Given the description of an element on the screen output the (x, y) to click on. 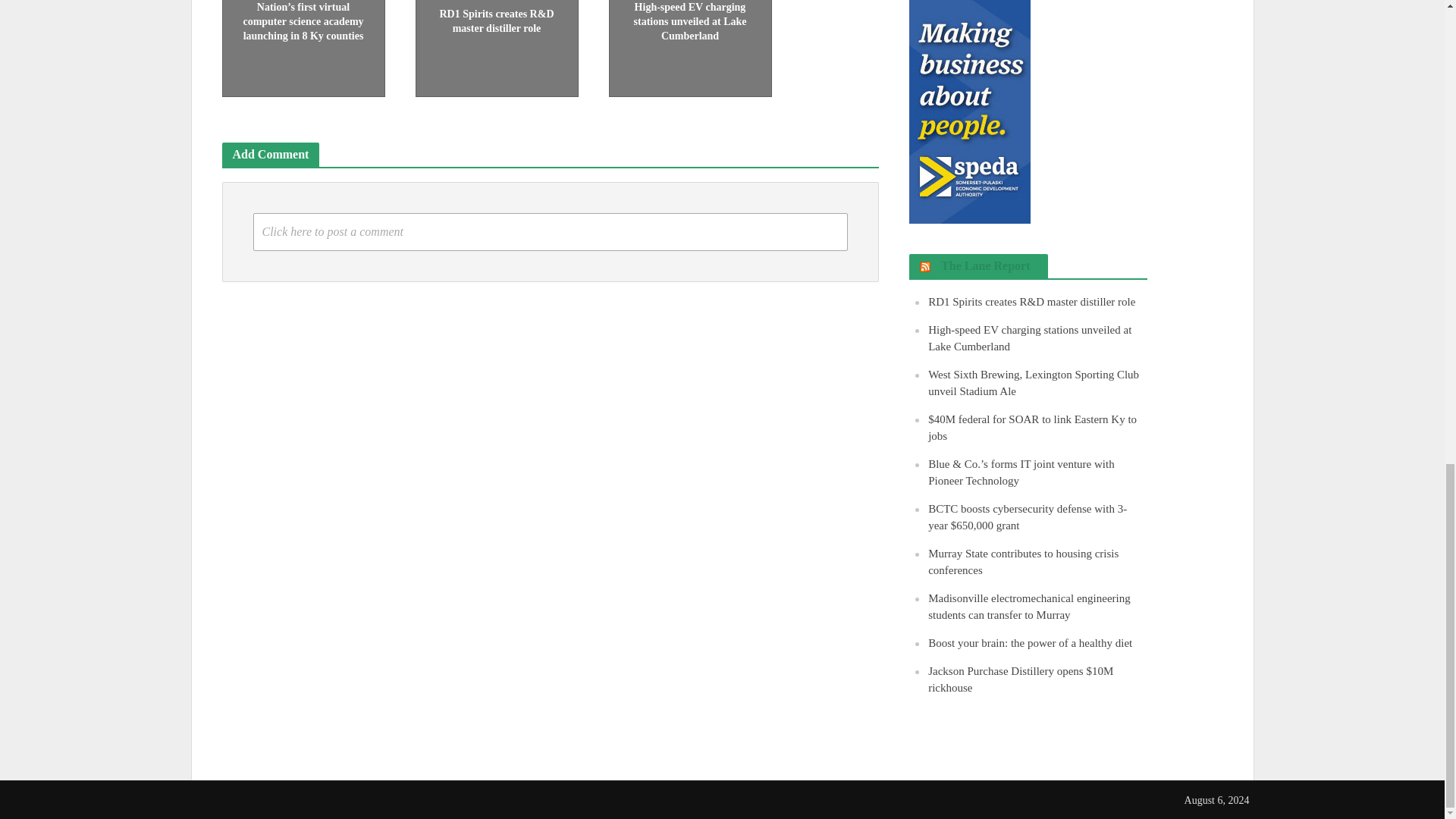
High-speed EV charging stations unveiled at Lake Cumberland (689, 19)
